Given the description of an element on the screen output the (x, y) to click on. 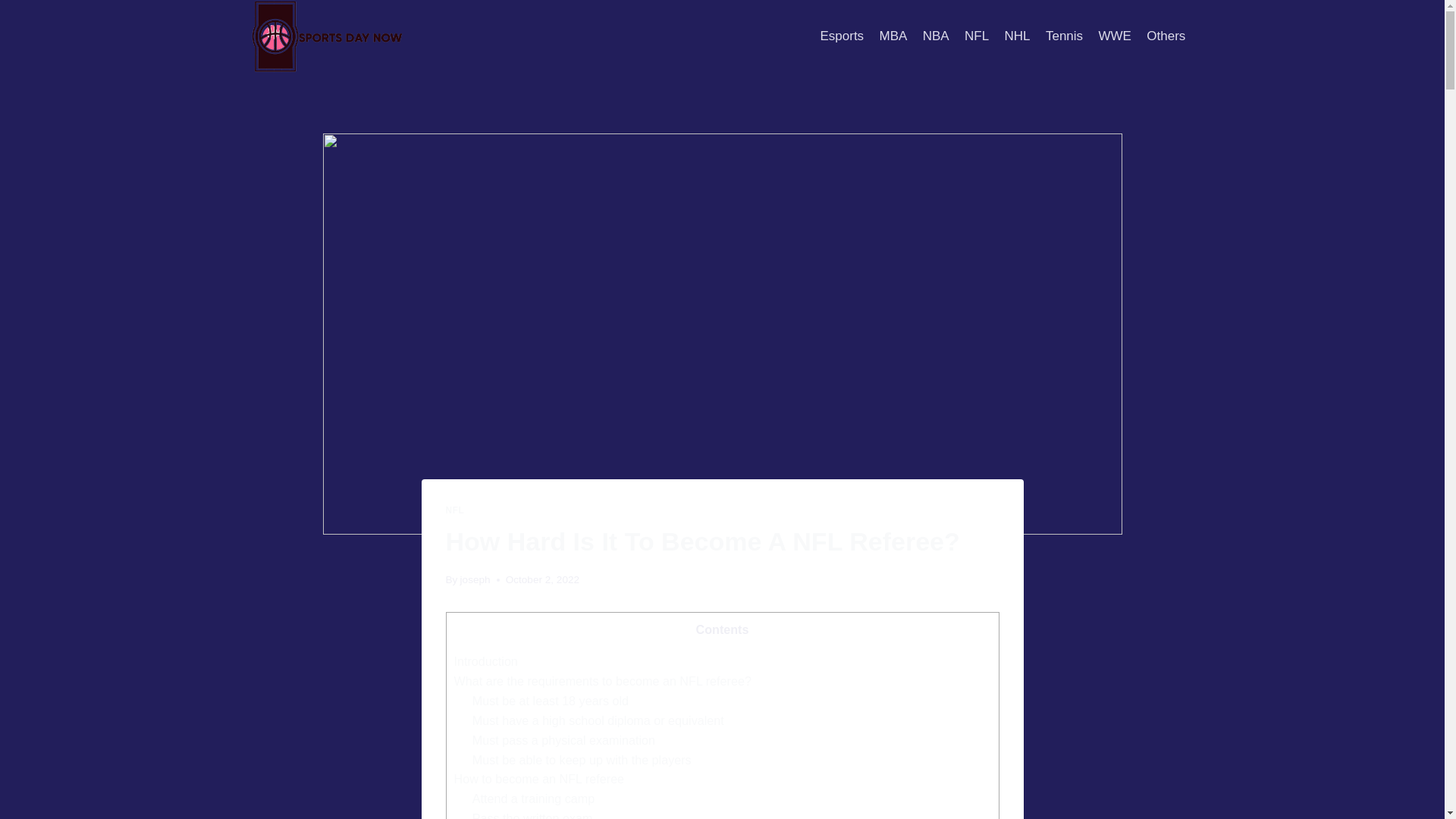
Must be able to keep up with the players (581, 759)
NBA (935, 36)
joseph (475, 579)
Tennis (1064, 36)
NFL (976, 36)
Must pass a physical examination (563, 739)
Others (1165, 36)
NHL (1015, 36)
Must be at least 18 years old (549, 700)
WWE (1114, 36)
